Given the description of an element on the screen output the (x, y) to click on. 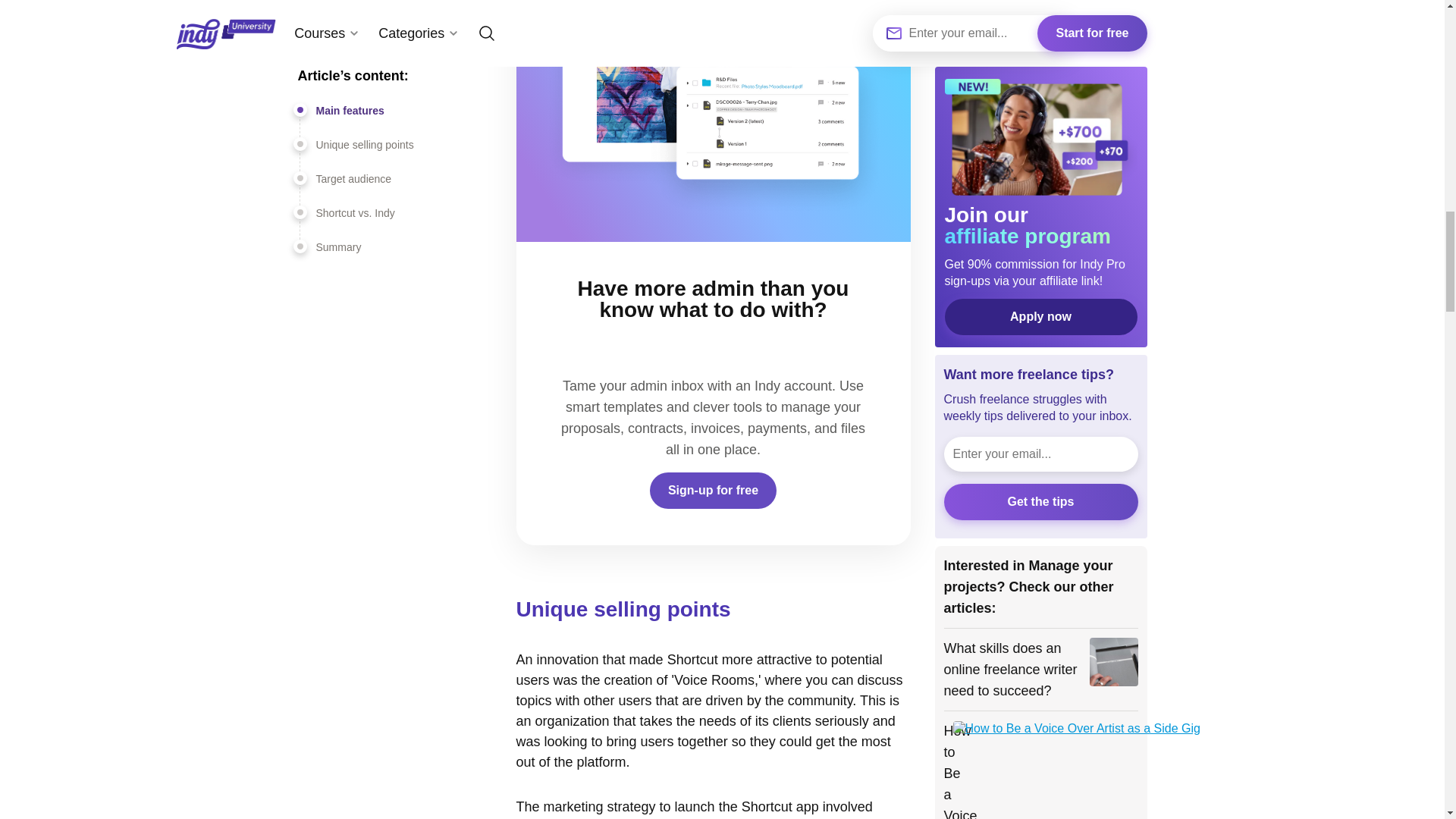
Intermediate (1057, 173)
Career path (975, 11)
Contracts (1084, 142)
Get inspired (976, 38)
Taxes (966, 205)
List (1015, 205)
Templates (976, 173)
Manage your time (992, 63)
Work life balance (992, 142)
